Given the description of an element on the screen output the (x, y) to click on. 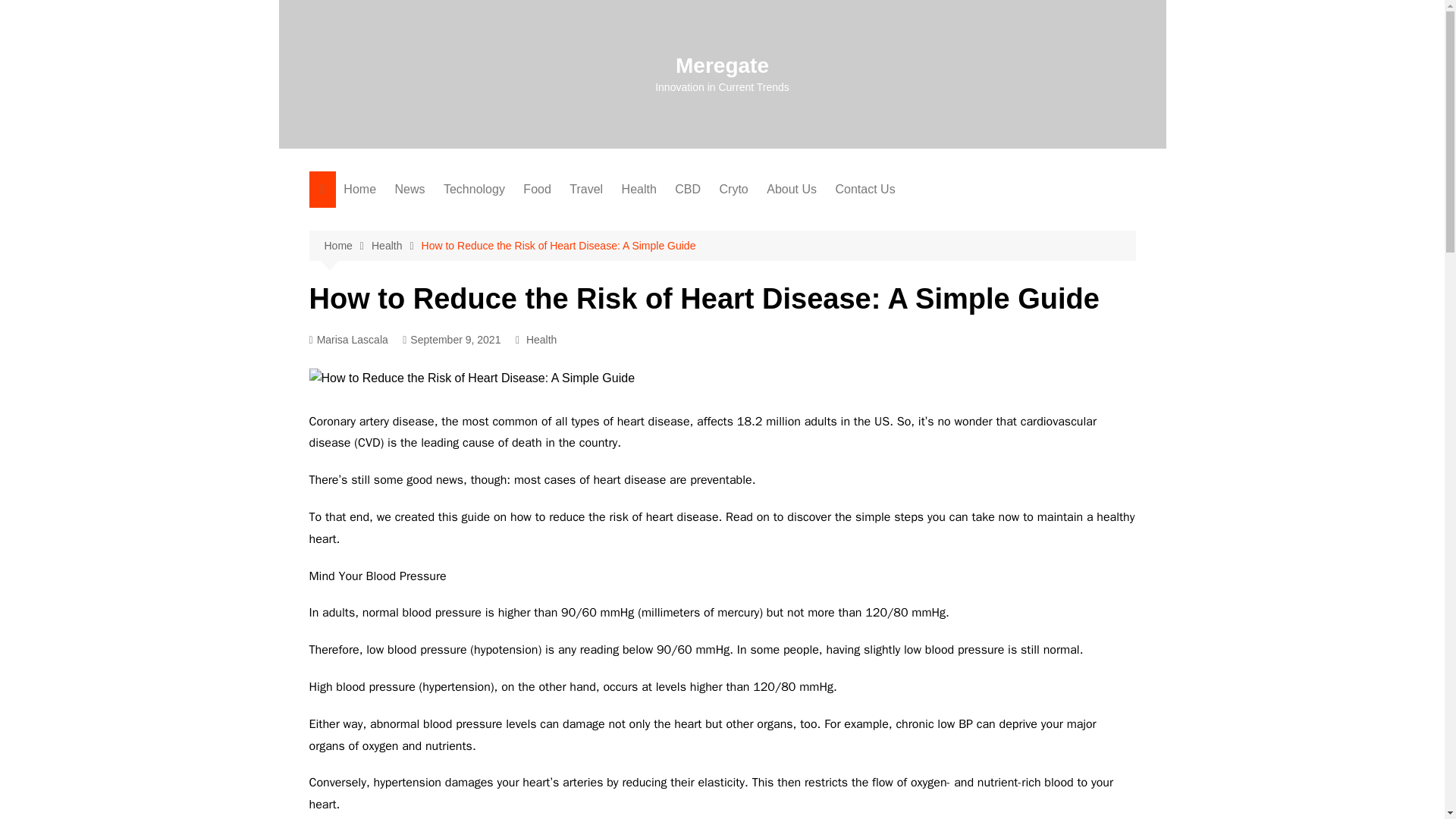
Finance (470, 445)
Cat-Advice (636, 395)
Online-Education (636, 520)
Digital Marketing (518, 395)
News (409, 189)
Real Estate (470, 420)
Social Media (518, 244)
Bird-Advice (636, 420)
Sports (470, 319)
Fashion (697, 220)
